Given the description of an element on the screen output the (x, y) to click on. 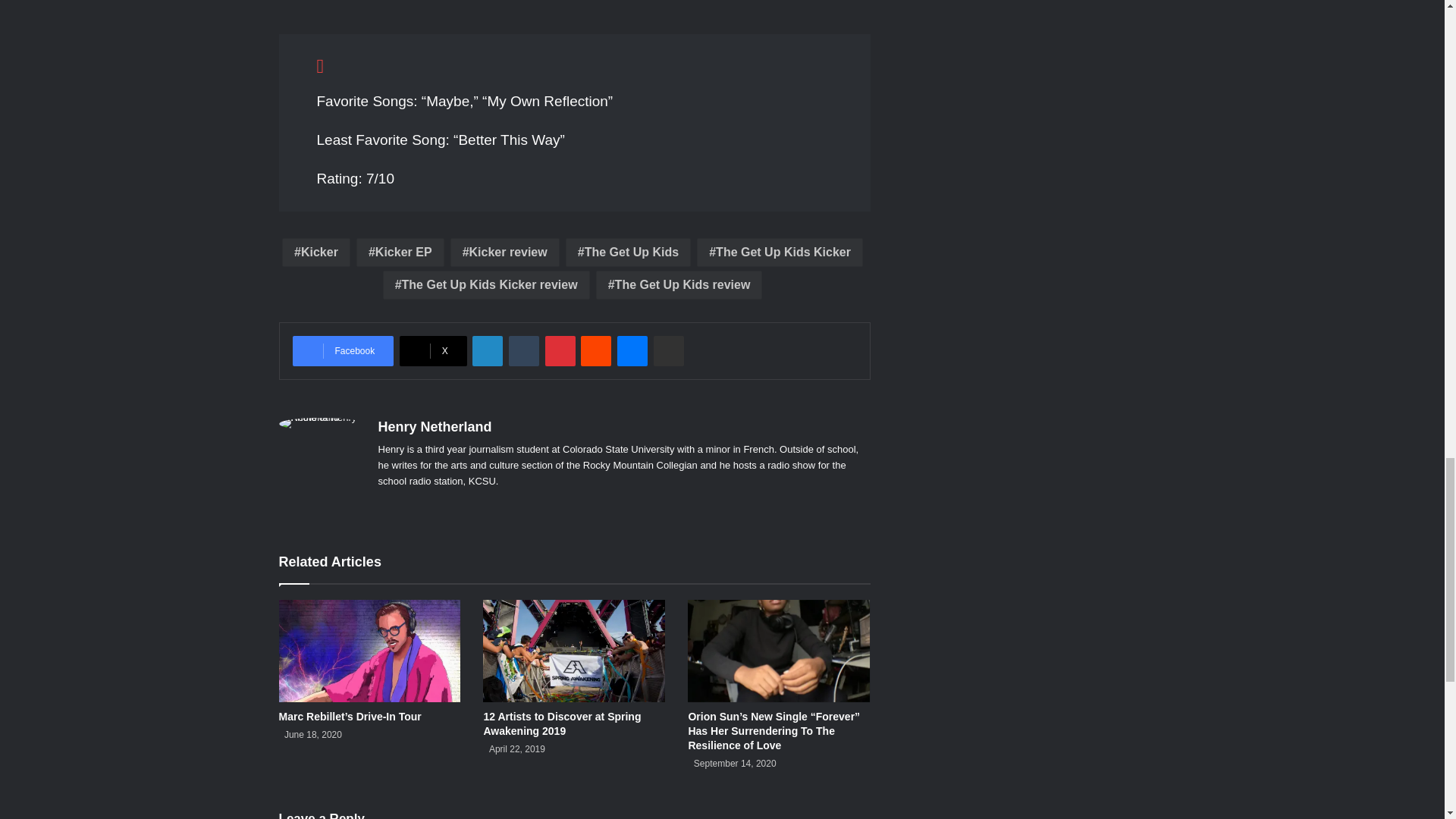
LinkedIn (486, 350)
Tumblr (523, 350)
Kicker (316, 252)
Pinterest (559, 350)
Facebook (343, 350)
Kicker review (504, 252)
The Get Up Kids (628, 252)
X (432, 350)
Kicker EP (400, 252)
